Given the description of an element on the screen output the (x, y) to click on. 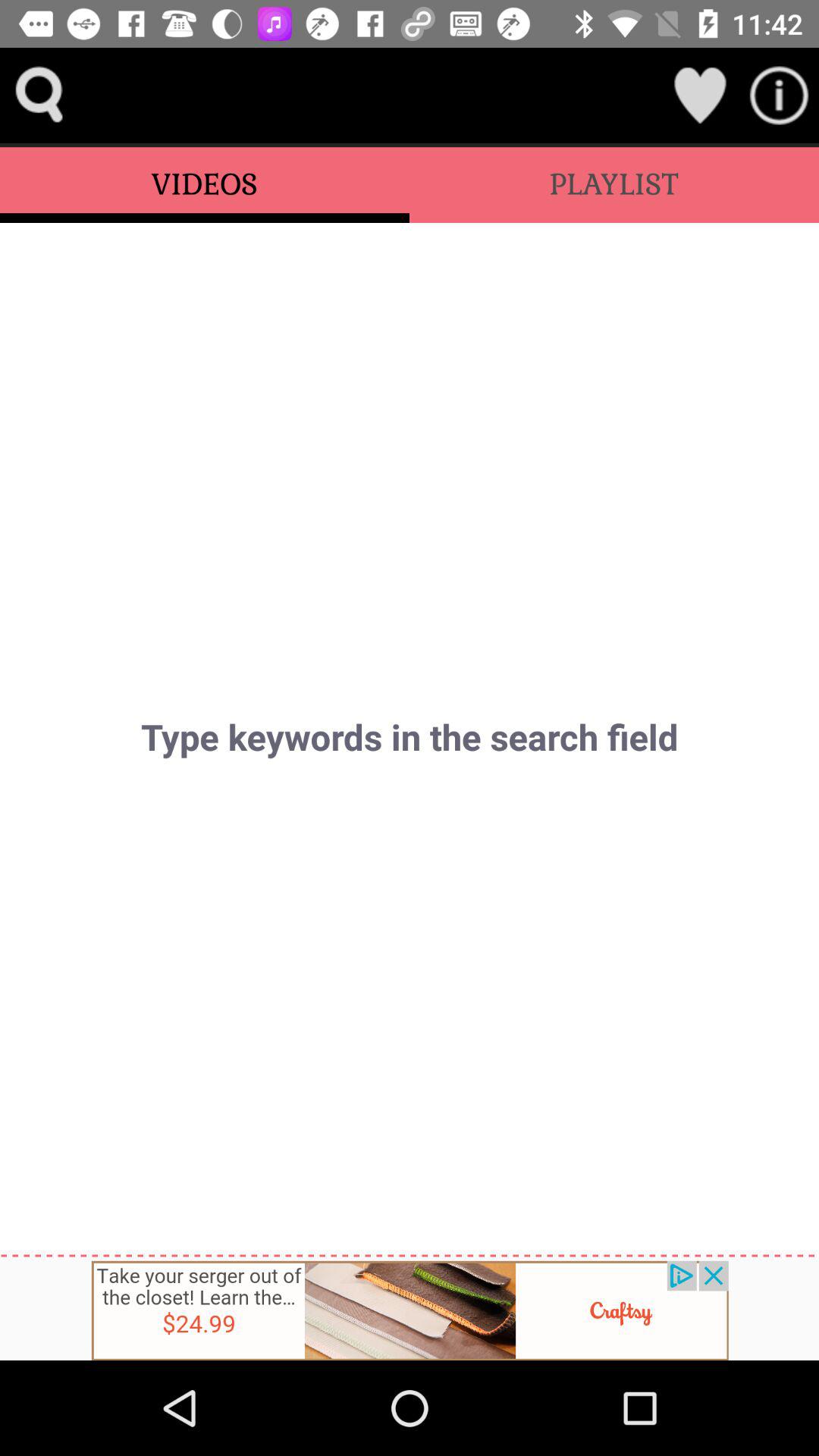
add to favorites (699, 95)
